Given the description of an element on the screen output the (x, y) to click on. 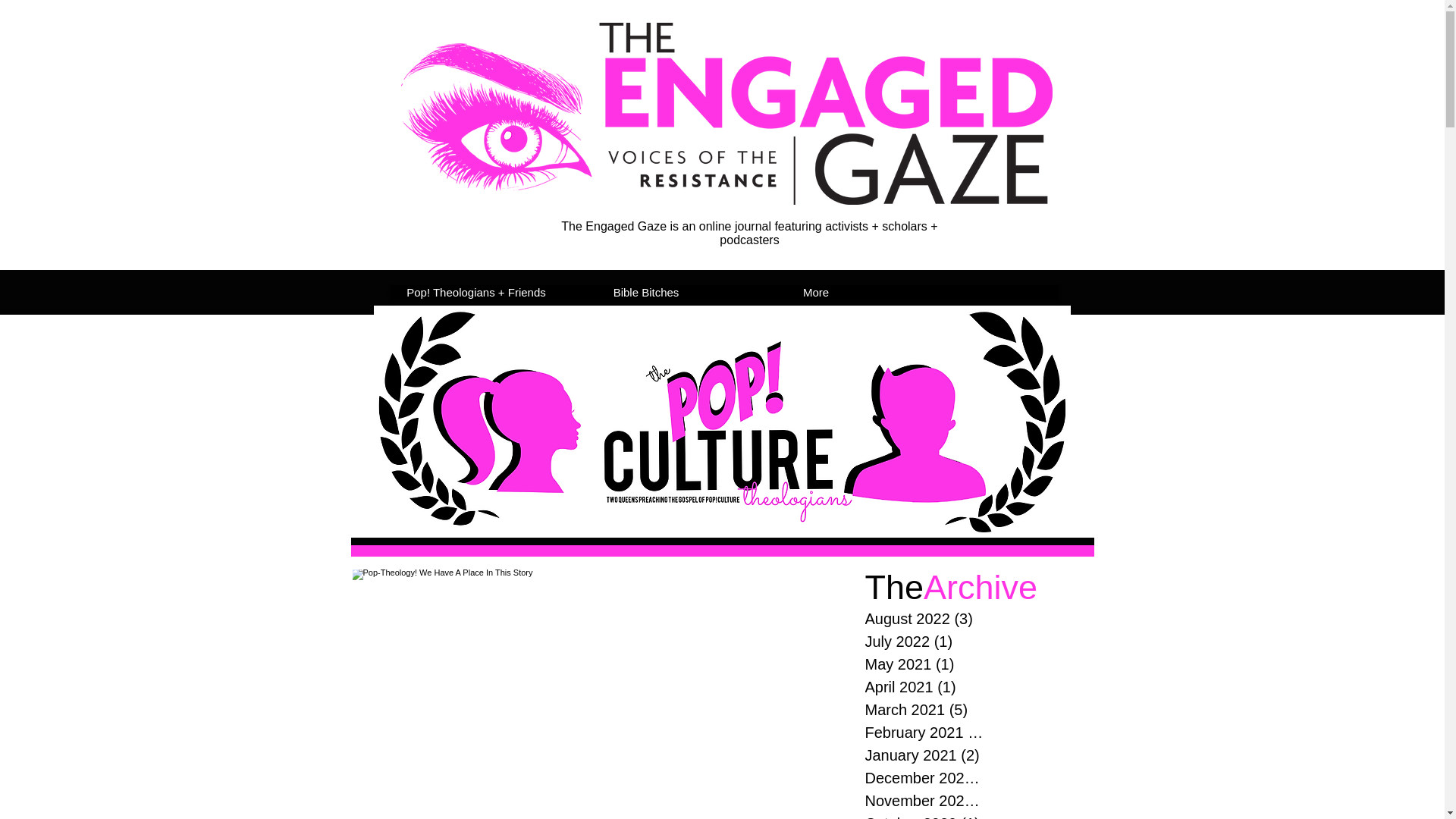
Bible Bitches (645, 292)
